Given the description of an element on the screen output the (x, y) to click on. 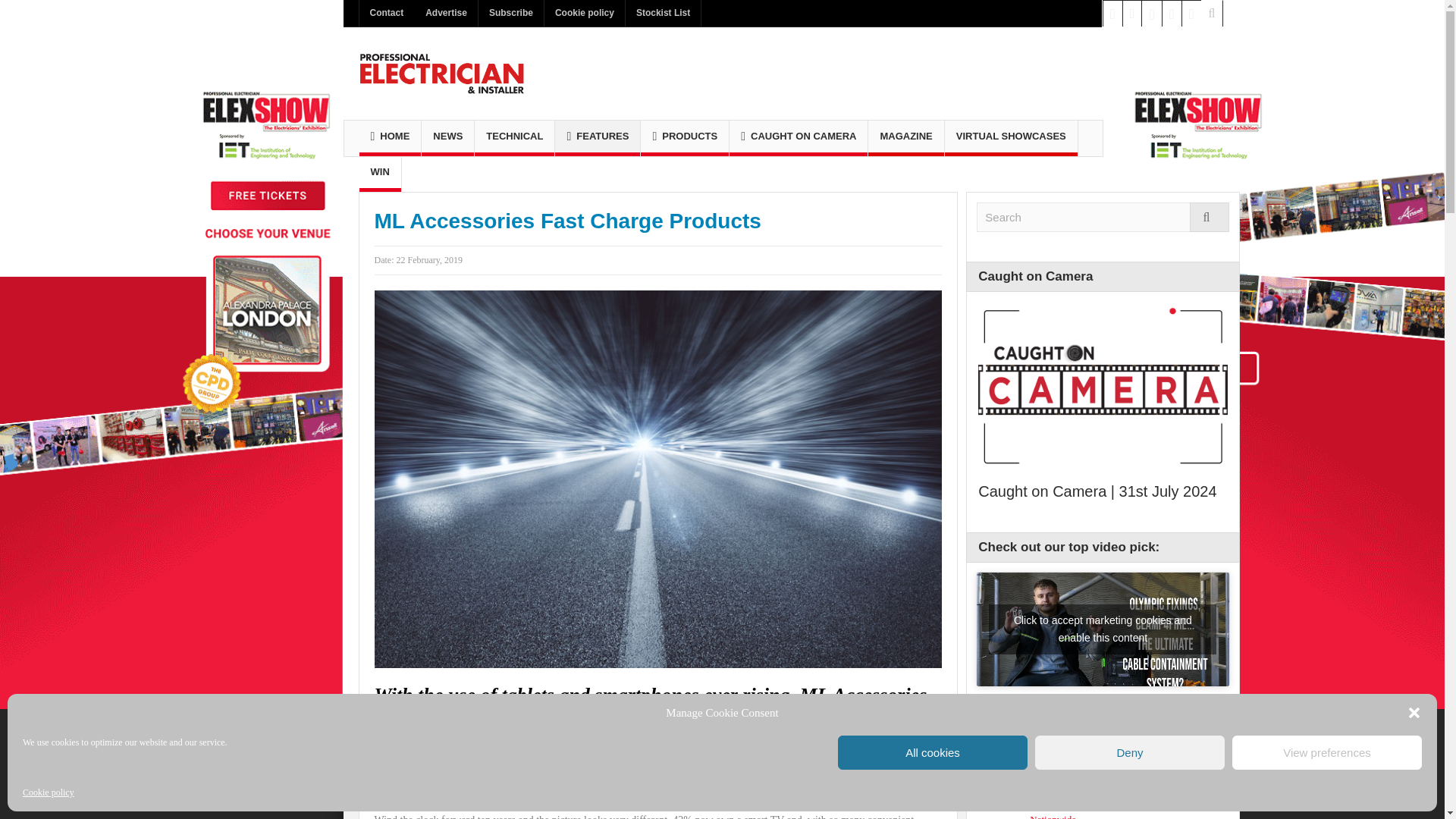
Search (1102, 216)
CAUGHT ON CAMERA (798, 138)
TECHNICAL (514, 138)
Subscribe (511, 13)
WIN (380, 173)
View preferences (1326, 752)
Stockist List (663, 13)
PRODUCTS (684, 138)
Professional Electrician (441, 72)
Cookie policy (584, 13)
